Given the description of an element on the screen output the (x, y) to click on. 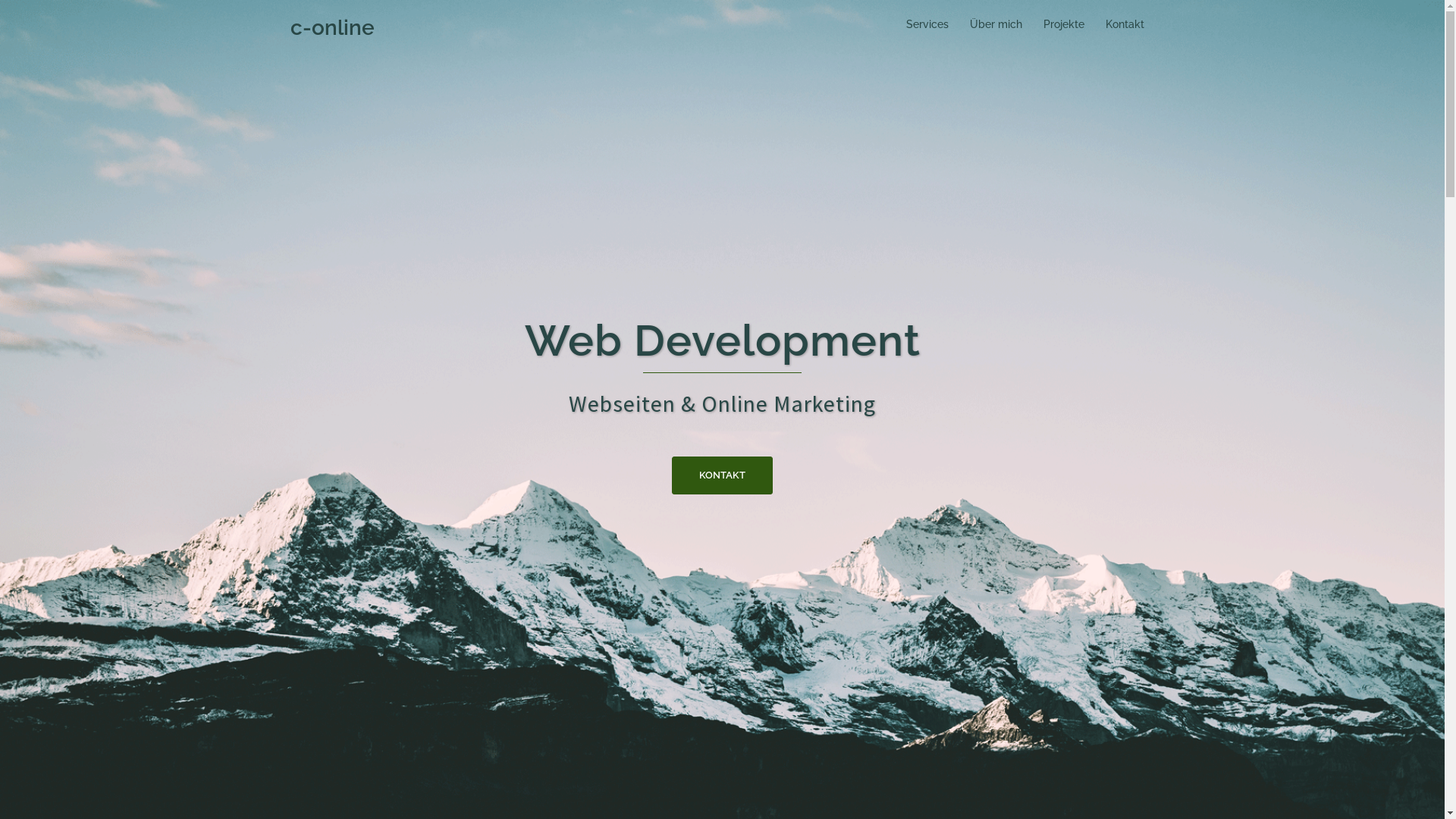
Kontakt Element type: text (1124, 24)
Services Element type: text (926, 24)
c-online Element type: text (331, 27)
Skip to content Element type: text (0, 0)
Projekte Element type: text (1063, 24)
KONTAKT Element type: text (721, 475)
